Given the description of an element on the screen output the (x, y) to click on. 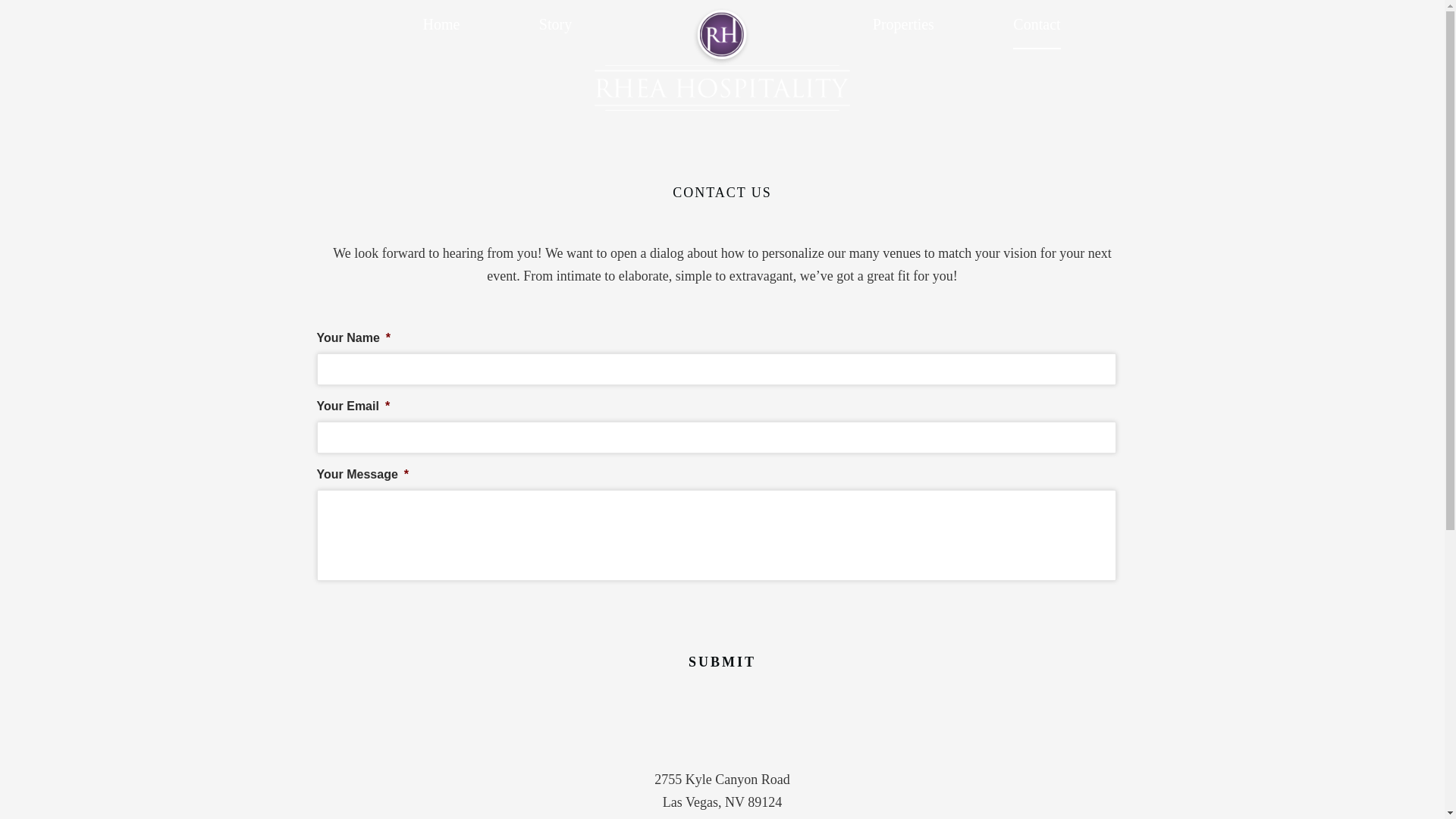
Submit (722, 662)
Submit (722, 662)
Contact (1036, 31)
Properties (903, 30)
Story (555, 30)
Home (441, 30)
